Given the description of an element on the screen output the (x, y) to click on. 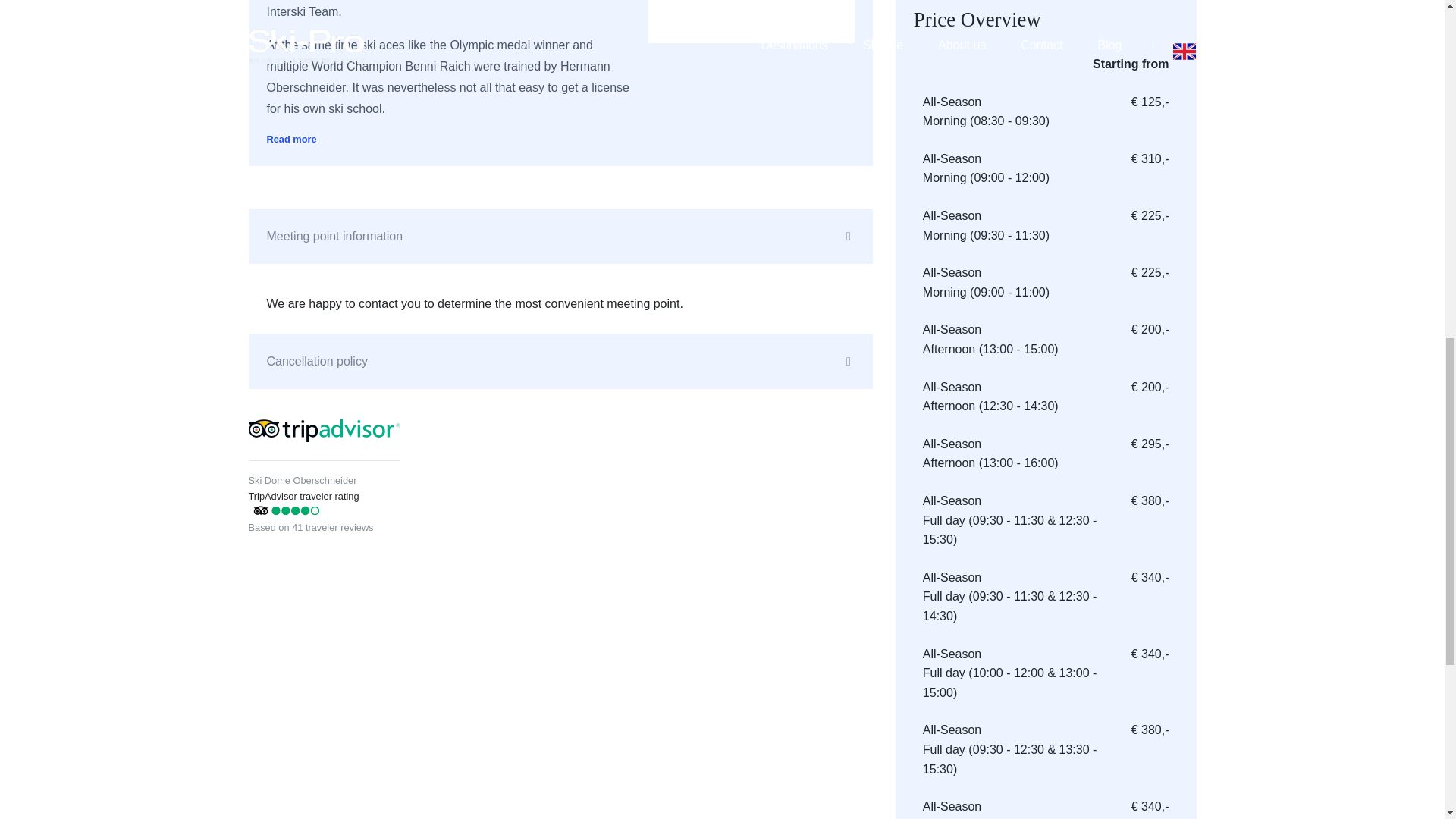
Meeting point information (560, 236)
Cancellation policy (560, 361)
Ski Dome Oberschneider (302, 480)
Based on 41 traveler reviews (311, 525)
Read more (291, 139)
